Given the description of an element on the screen output the (x, y) to click on. 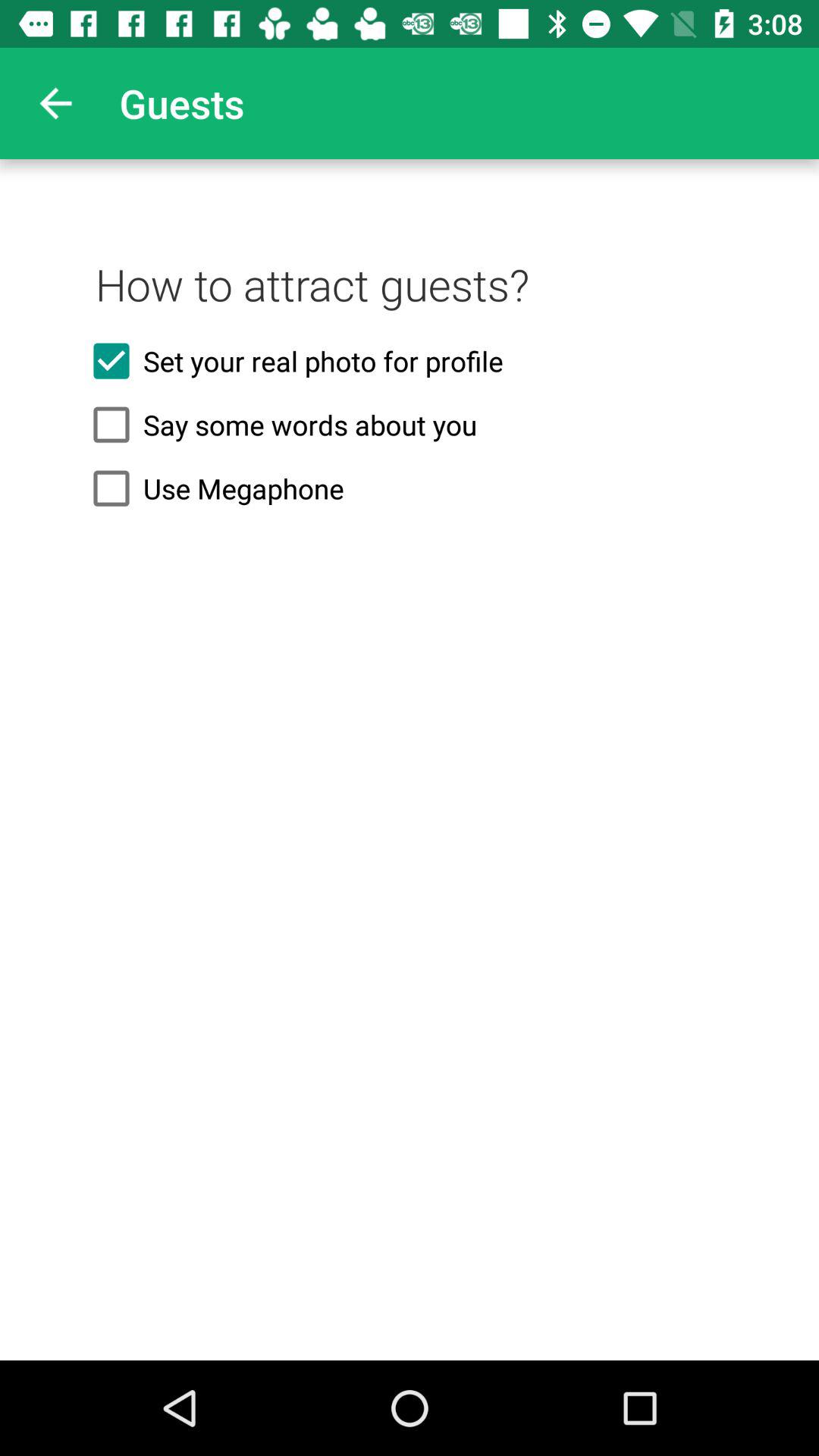
swipe to the set your real (409, 361)
